Given the description of an element on the screen output the (x, y) to click on. 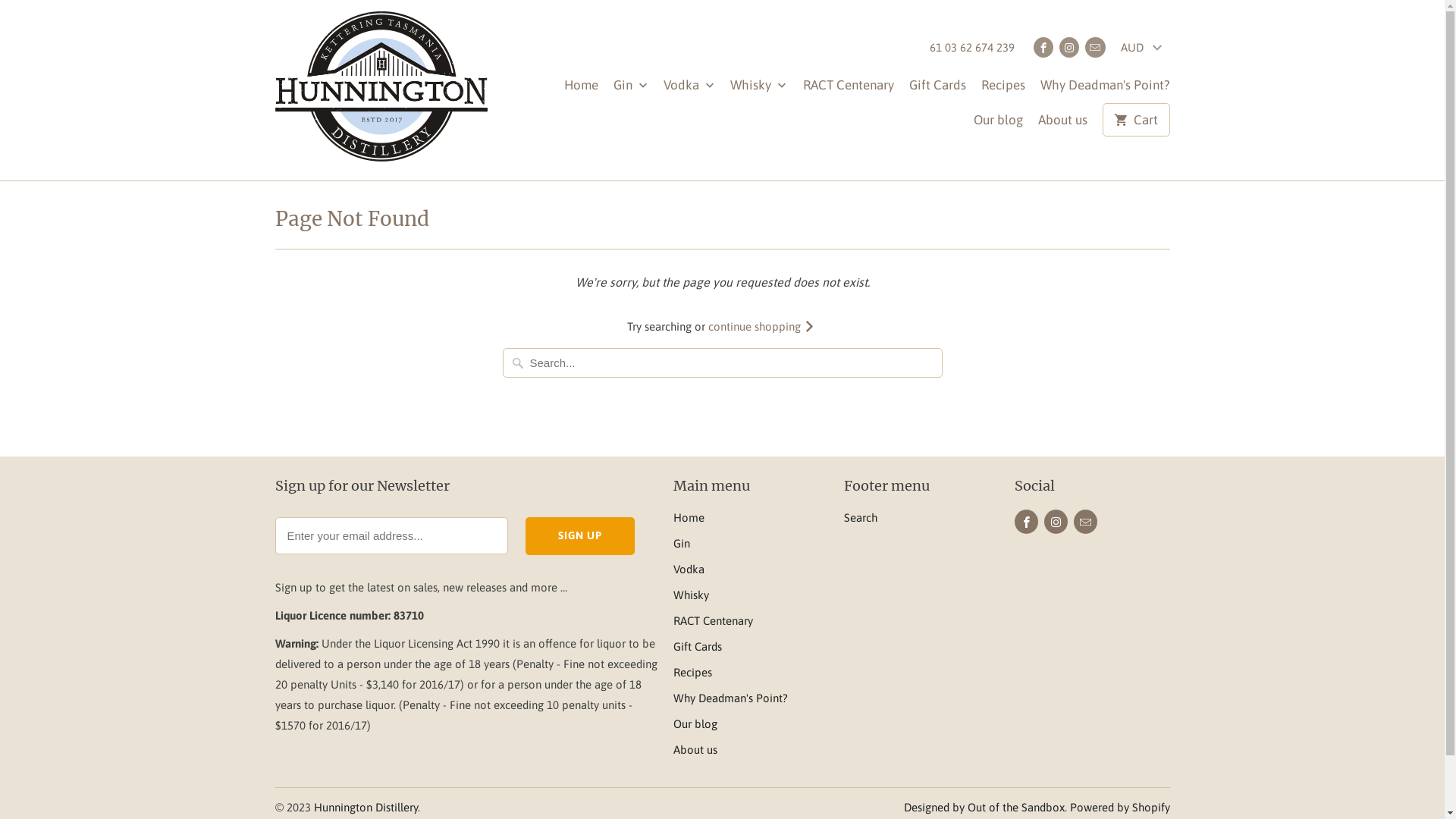
Hunnington Distillery on Instagram Element type: hover (1055, 521)
Our blog Element type: text (695, 723)
RACT Centenary Element type: text (847, 88)
Hunnington Distillery on Facebook Element type: hover (1026, 521)
61 03 62 674 239 Element type: text (971, 51)
Hunnington Distillery Element type: text (365, 806)
continue shopping Element type: text (762, 326)
Home Element type: text (688, 517)
Recipes Element type: text (1003, 88)
Sign Up Element type: text (579, 536)
About us Element type: text (1062, 123)
Email Hunnington Distillery Element type: hover (1094, 47)
Why Deadman's Point? Element type: text (730, 697)
Search Element type: text (859, 517)
Vodka Element type: text (689, 89)
RACT Centenary Element type: text (713, 620)
Whisky Element type: text (691, 594)
Gin Element type: text (630, 89)
Designed by Out of the Sandbox Element type: text (983, 806)
Vodka Element type: text (688, 568)
Our blog Element type: text (997, 123)
Home Element type: text (581, 88)
Hunnington Distillery on Instagram Element type: hover (1069, 47)
About us Element type: text (695, 749)
Gin Element type: text (681, 542)
Hunnington Distillery on Facebook Element type: hover (1043, 47)
Why Deadman's Point? Element type: text (1105, 88)
Powered by Shopify Element type: text (1119, 806)
Gift Cards Element type: text (936, 88)
Cart Element type: text (1135, 119)
Recipes Element type: text (692, 671)
Hunnington Distillery Element type: hover (380, 90)
Email Hunnington Distillery Element type: hover (1085, 521)
Whisky Element type: text (758, 89)
Gift Cards Element type: text (697, 646)
